Given the description of an element on the screen output the (x, y) to click on. 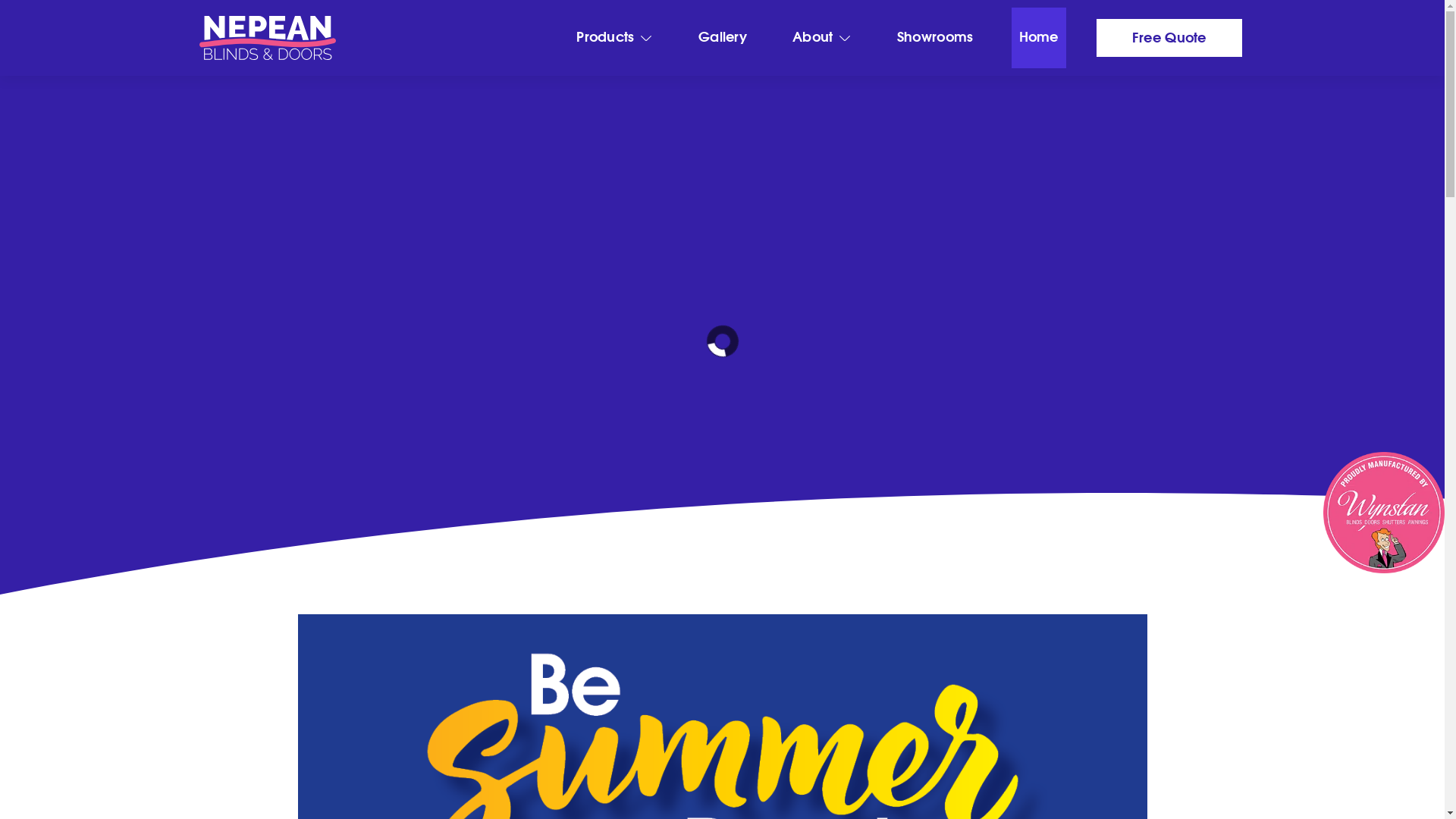
Products Element type: text (614, 37)
Showrooms Element type: text (935, 37)
Gallery Element type: text (722, 37)
Free Quote Element type: text (210, 456)
Free Quote Element type: text (1169, 37)
Home Element type: text (1038, 37)
About Element type: text (821, 37)
